Given the description of an element on the screen output the (x, y) to click on. 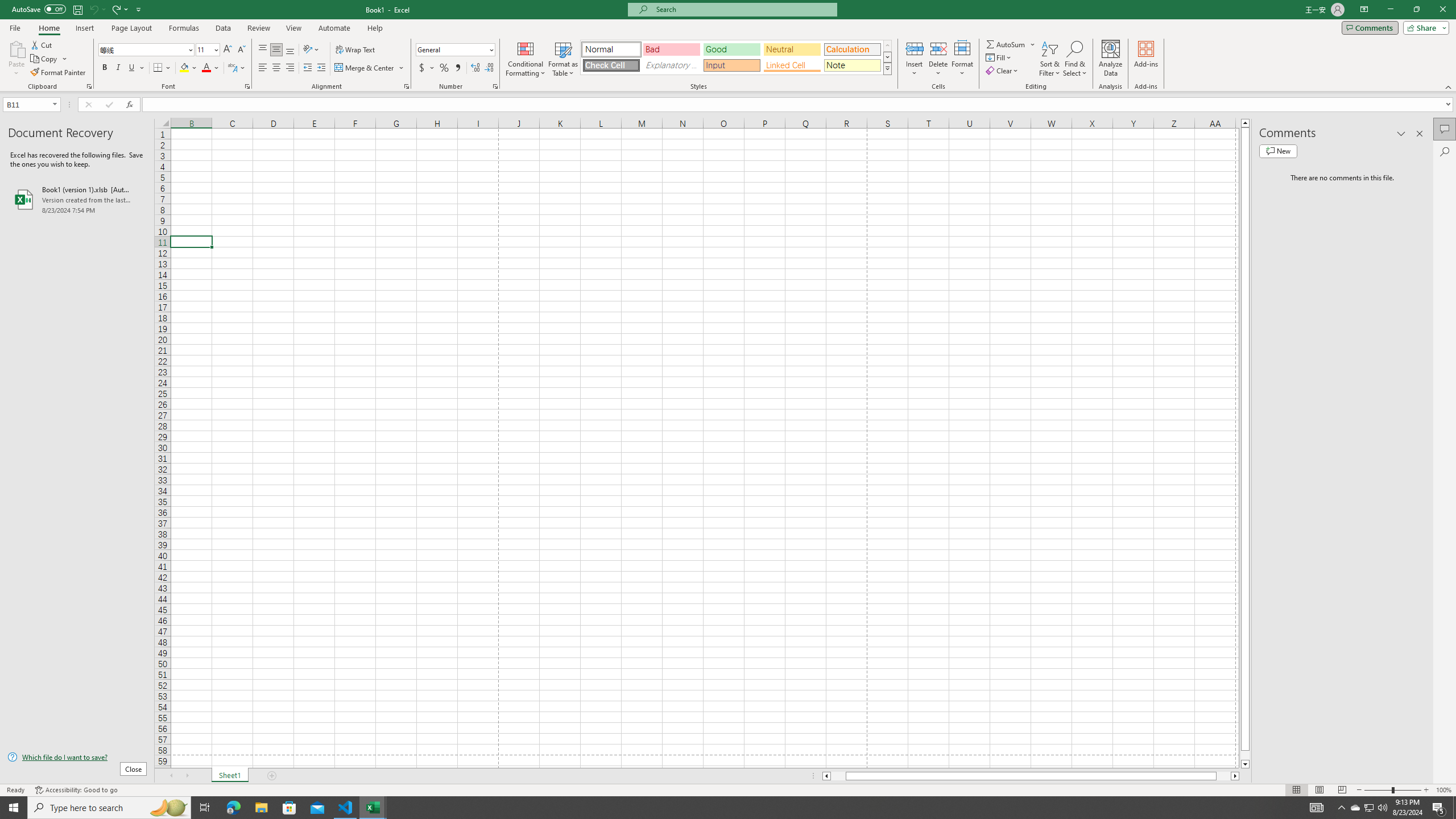
Orientation (311, 49)
AutoSave (38, 9)
Find & Select (1075, 58)
Decrease Indent (307, 67)
Note (852, 65)
Percent Style (443, 67)
Font Color (210, 67)
Delete (938, 58)
